Given the description of an element on the screen output the (x, y) to click on. 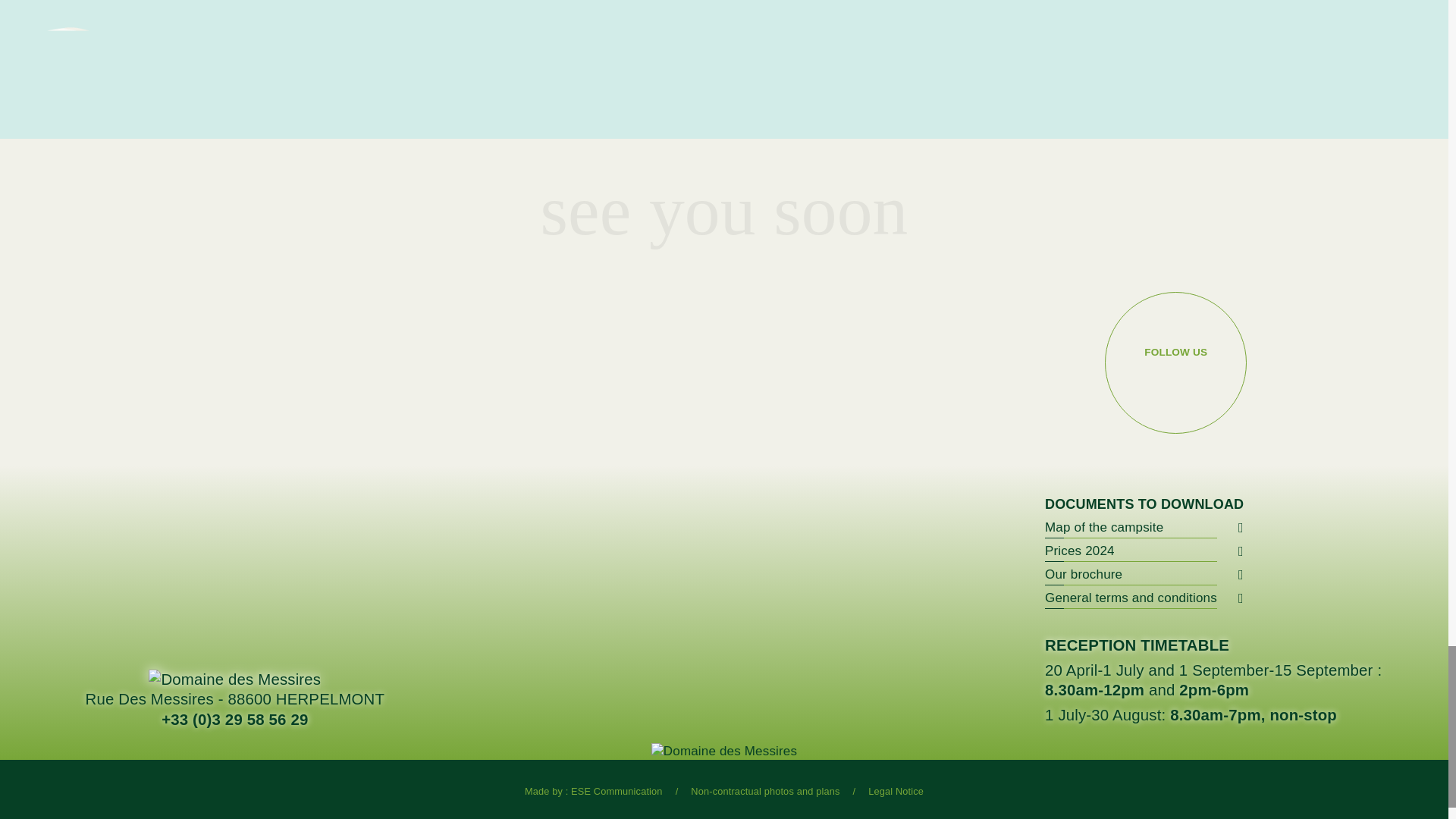
General terms and conditions (1131, 598)
Prices 2024 (1131, 551)
Map of the campsite (1131, 527)
Our brochure (1131, 574)
